Given the description of an element on the screen output the (x, y) to click on. 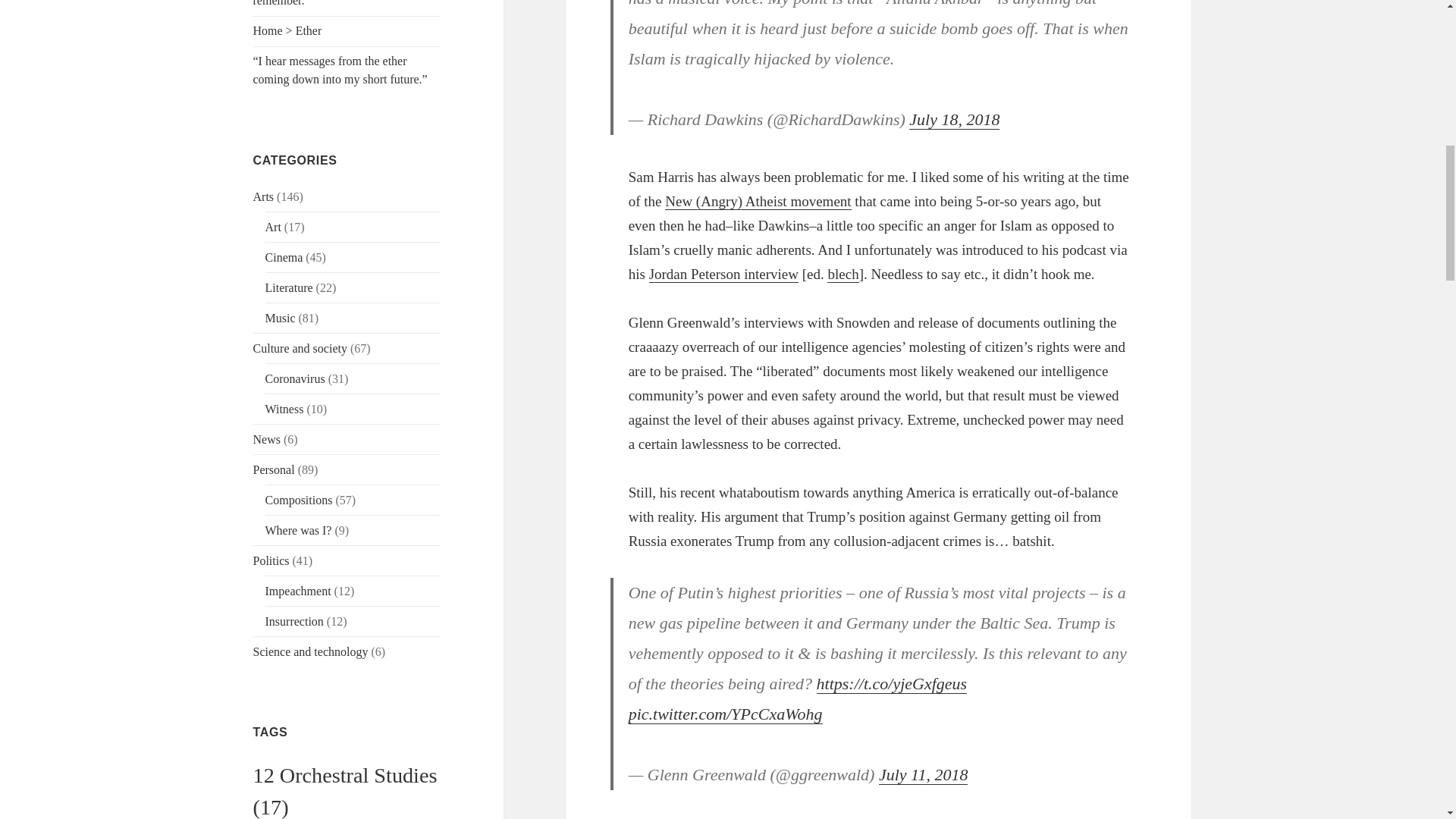
Compositions (298, 499)
Music (279, 318)
Impeachment (297, 590)
Personal (274, 469)
News (267, 439)
Culture and society (300, 348)
Arts (264, 196)
Where was I? (297, 530)
Cinema (283, 256)
Science and technology (310, 651)
